Given the description of an element on the screen output the (x, y) to click on. 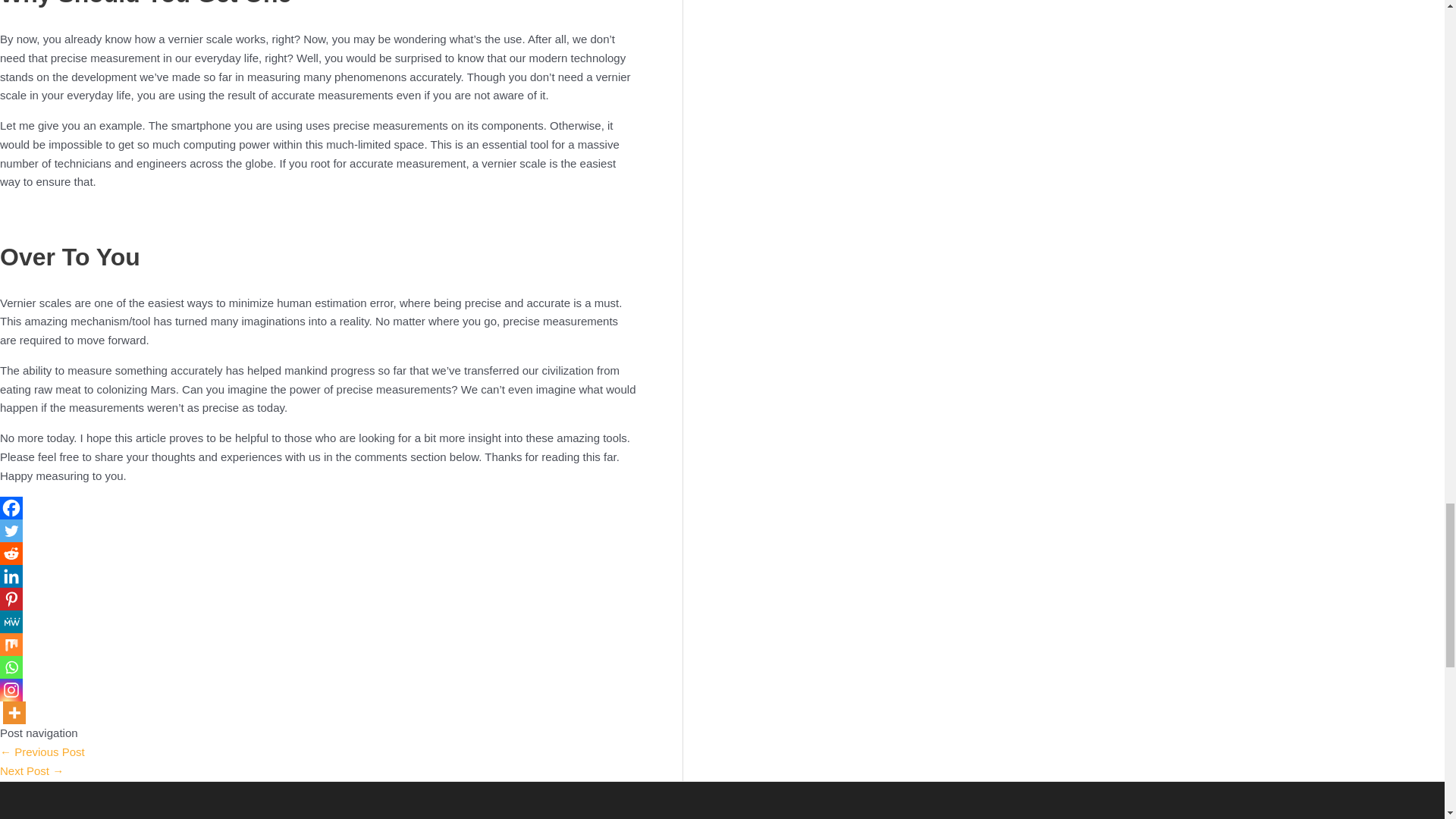
Whatsapp (11, 667)
Reddit (11, 553)
Instagram (11, 689)
Mix (11, 644)
Linkedin (11, 576)
Know Your Tools 101: How to Use a Measuring Wheel Properly (32, 770)
Twitter (11, 530)
Pinterest (11, 599)
More (14, 712)
Facebook (11, 507)
MeWe (11, 621)
